Given the description of an element on the screen output the (x, y) to click on. 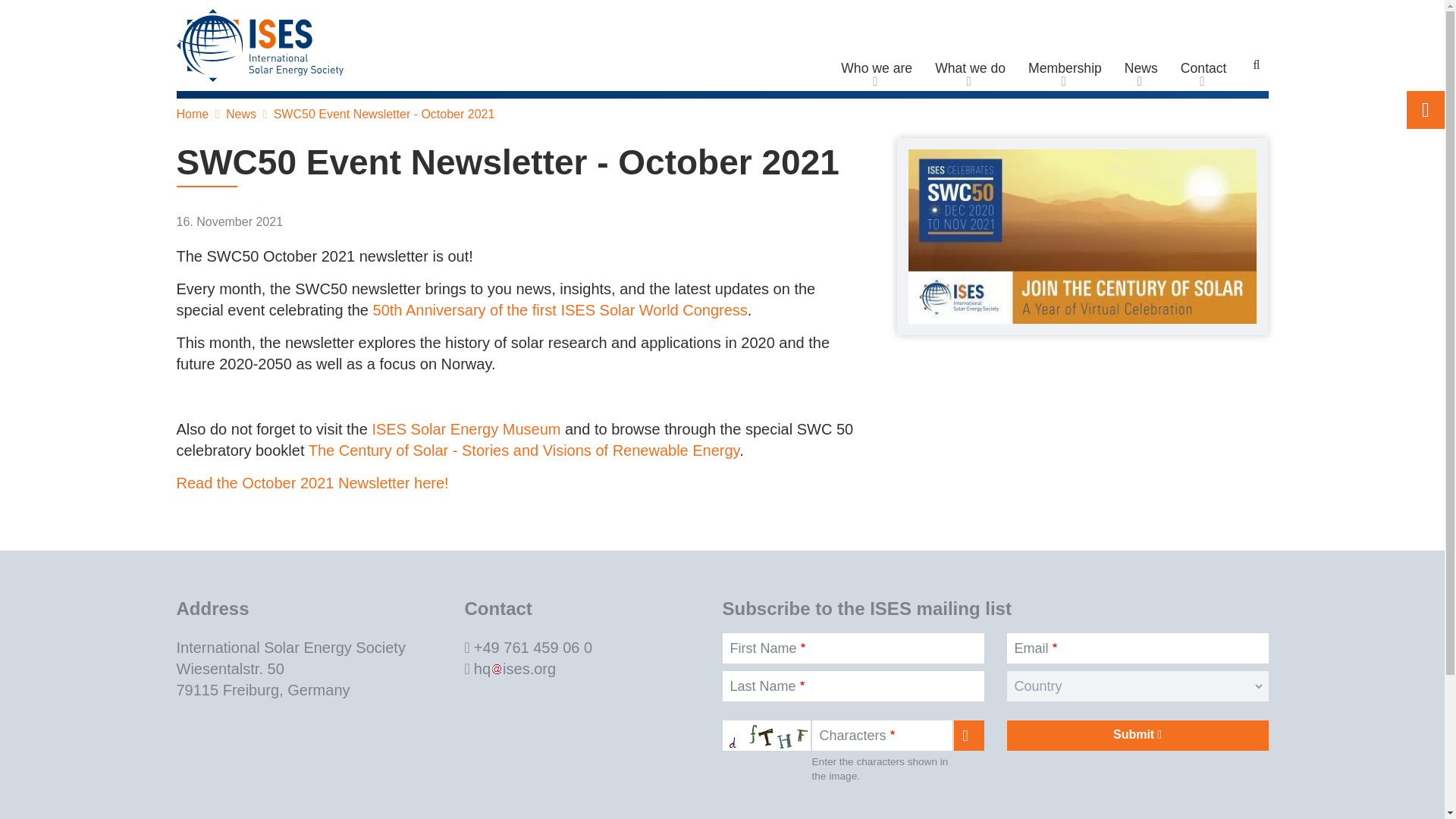
Image CAPTCHA (765, 735)
Who we are (876, 67)
Membership (1064, 67)
What we do (970, 67)
